Given the description of an element on the screen output the (x, y) to click on. 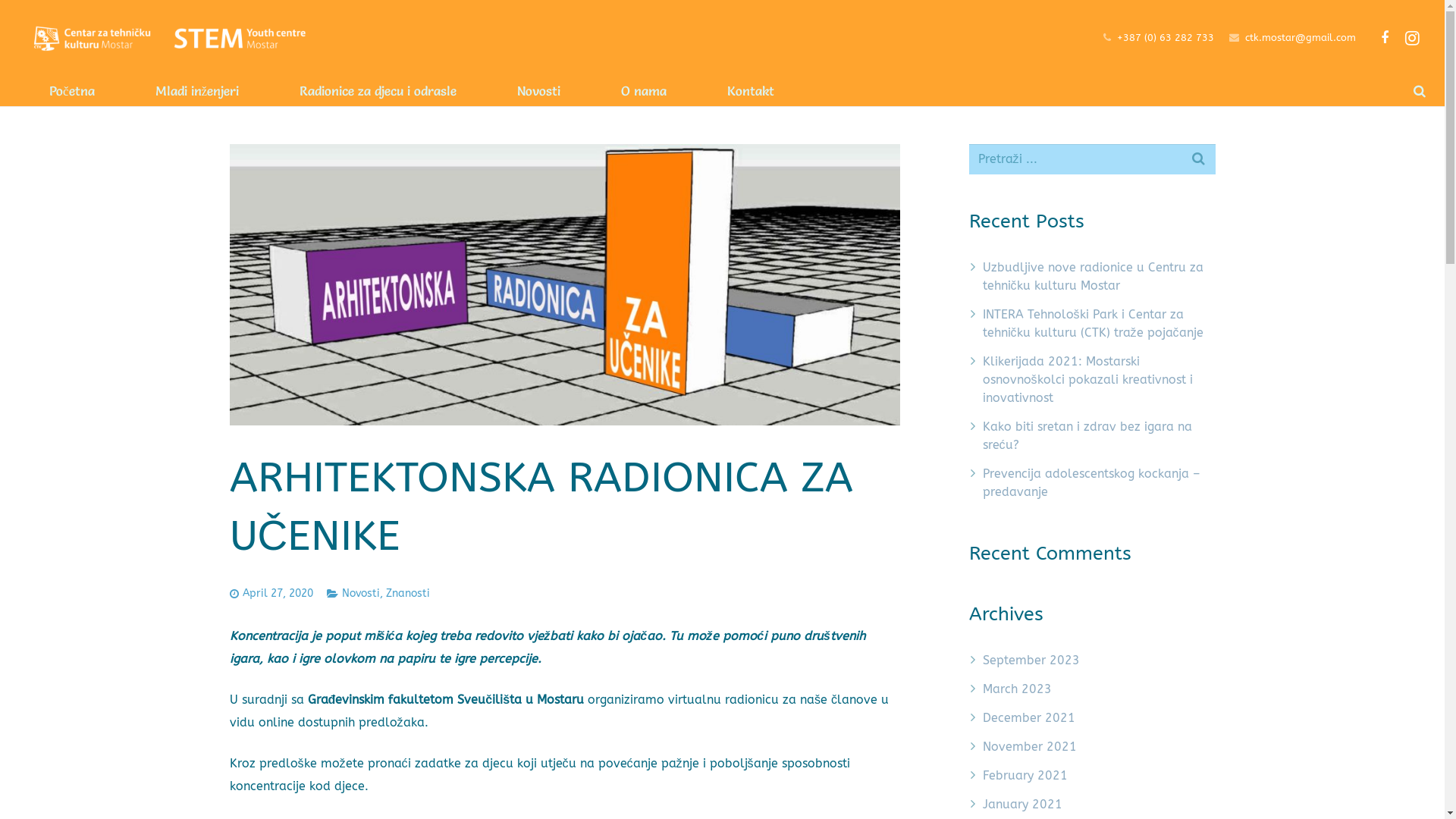
Radionice za djecu i odrasle Element type: text (377, 90)
November 2021 Element type: text (1029, 746)
January 2021 Element type: text (1022, 804)
Kontakt Element type: text (750, 90)
March 2023 Element type: text (1016, 688)
Novosti Element type: text (538, 90)
December 2021 Element type: text (1028, 717)
ctk.mostar@gmail.com Element type: text (1300, 37)
Znanosti Element type: text (407, 592)
February 2021 Element type: text (1024, 775)
September 2023 Element type: text (1030, 659)
Novosti Element type: text (360, 592)
O nama Element type: text (643, 90)
